Given the description of an element on the screen output the (x, y) to click on. 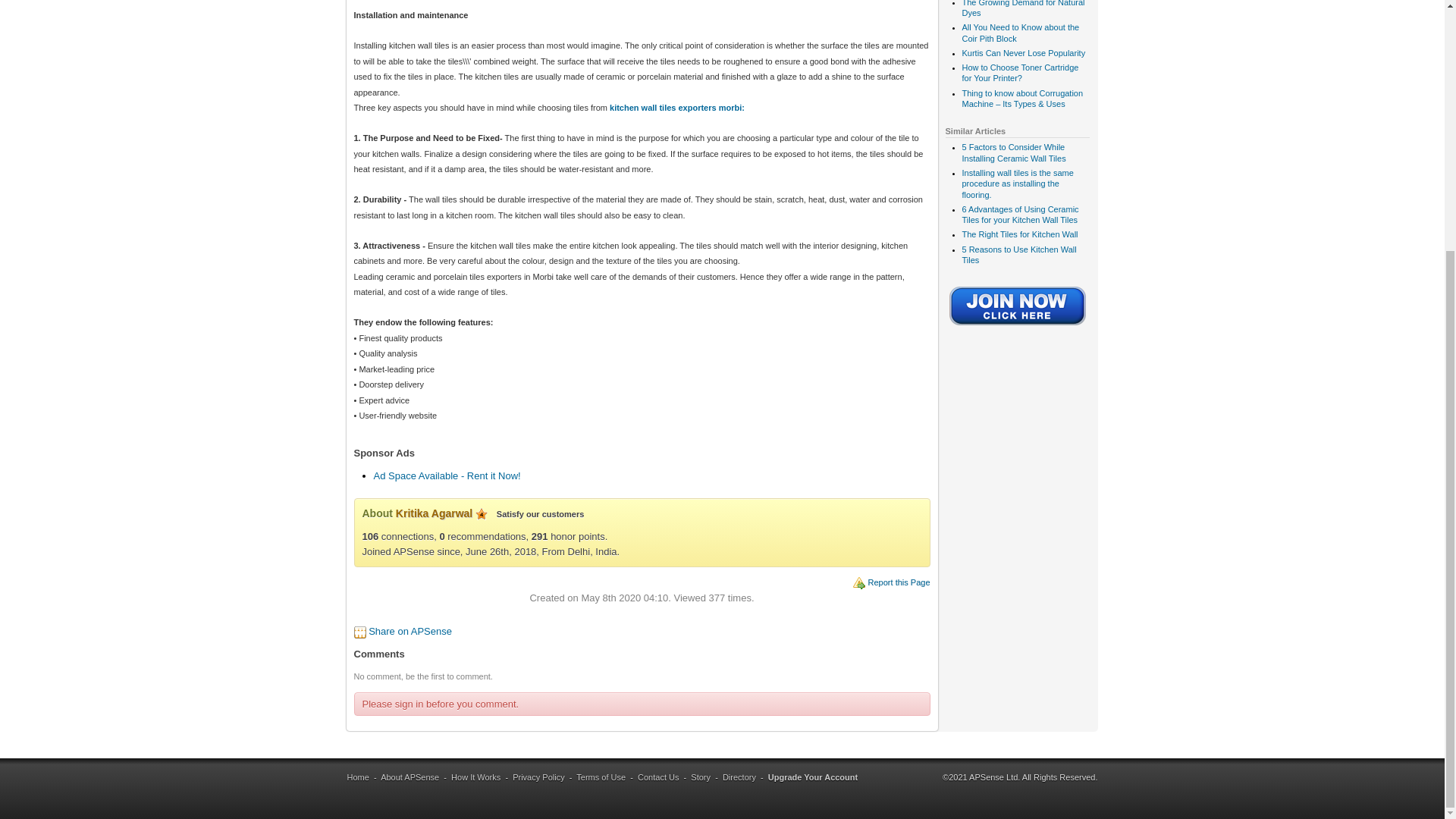
kitchen wall tiles exporters morbi: (675, 107)
5 Reasons to Use Kitchen Wall Tiles (1017, 254)
Share on APSense (409, 631)
How to Choose Toner Cartridge for Your Printer? (1019, 72)
All You Need to Know about the Coir Pith Block (1019, 32)
All You Need to Know about the Coir Pith Block (1019, 32)
The Growing Demand for Natural Dyes (1022, 8)
5 Factors to Consider While Installing Ceramic Wall Tiles (1012, 152)
Ad Space Available - Rent it Now! (445, 475)
Share on APSense (409, 631)
Kurtis Can Never Lose Popularity (1022, 52)
Kurtis Can Never Lose Popularity (1022, 52)
Kritika Agarwal (433, 512)
5 Factors to Consider While Installing Ceramic Wall Tiles (1012, 152)
